Given the description of an element on the screen output the (x, y) to click on. 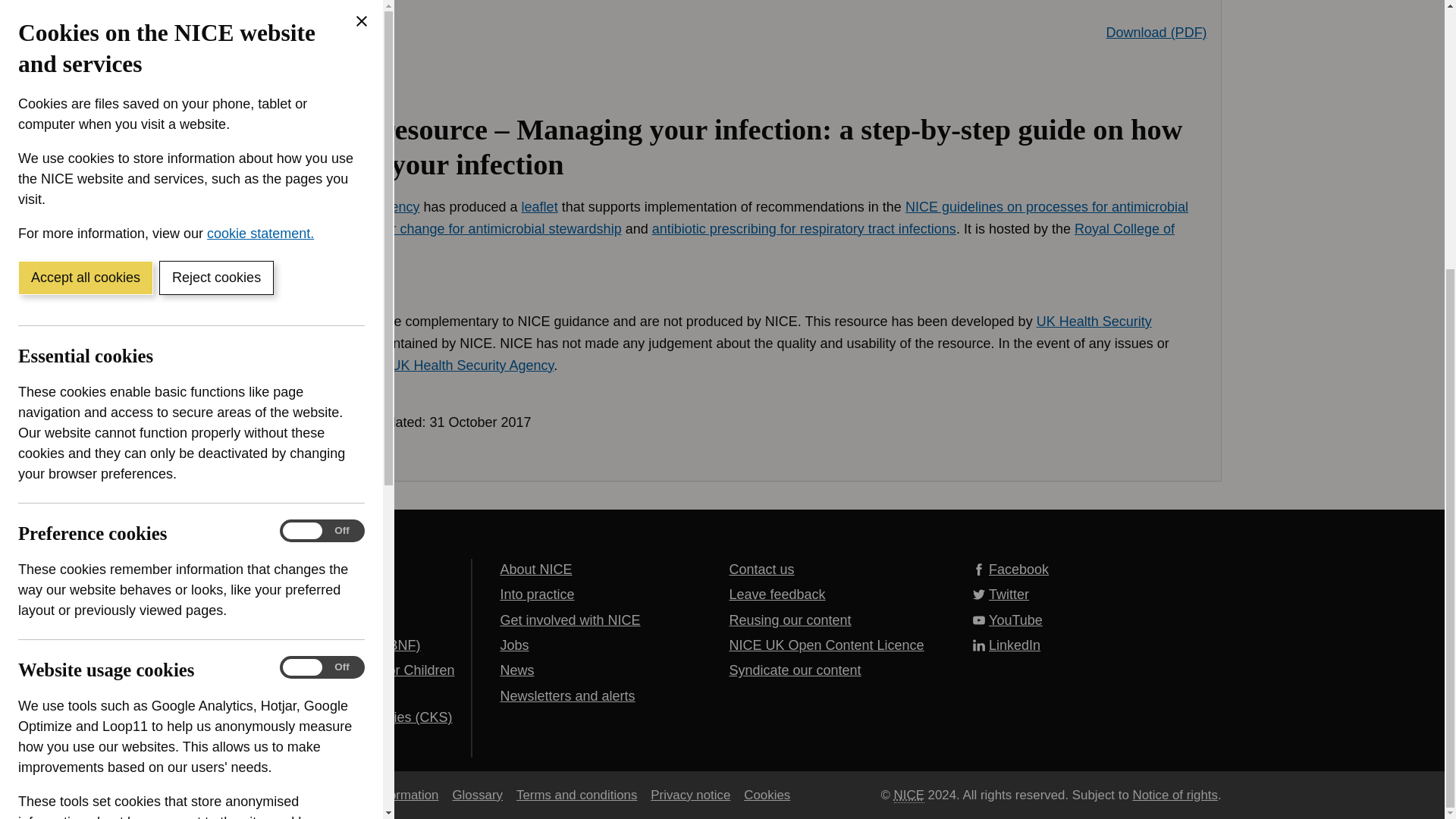
Show vendors within this category (130, 490)
National Institute for Health and Care Excellence (908, 795)
